Given the description of an element on the screen output the (x, y) to click on. 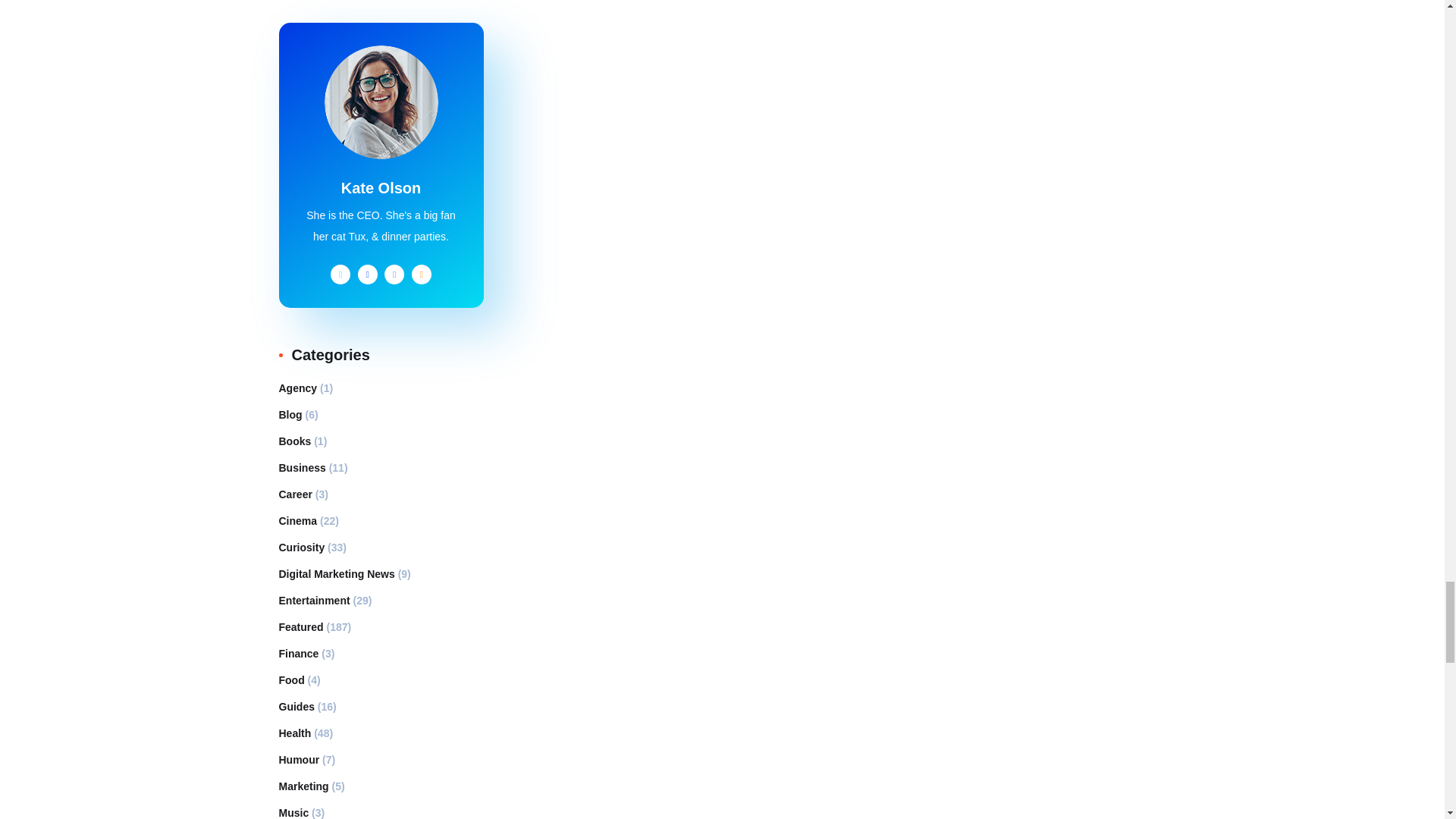
Featured (301, 627)
Curiosity (301, 547)
Finance (298, 653)
Health (295, 732)
Guides (296, 706)
Music (293, 811)
Food (291, 679)
Digital Marketing News (336, 574)
Books (295, 441)
Marketing (304, 786)
Agency (298, 388)
Humour (299, 760)
Career (296, 494)
Cinema (298, 520)
Business (302, 467)
